Given the description of an element on the screen output the (x, y) to click on. 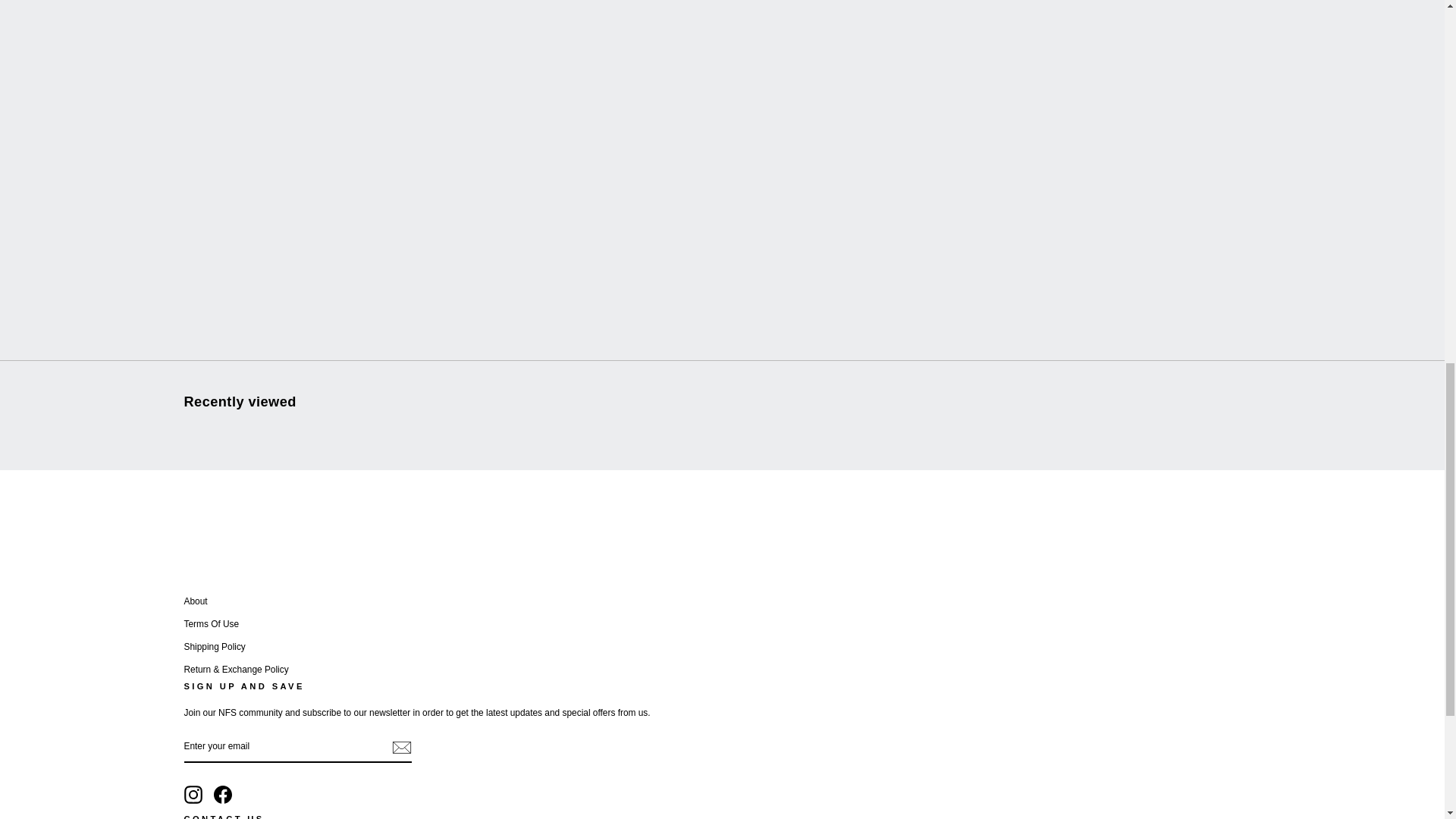
icon-email (400, 746)
instagram (192, 794)
NOT FOR SALE on Instagram (192, 794)
NOT FOR SALE on Facebook (222, 794)
